Given the description of an element on the screen output the (x, y) to click on. 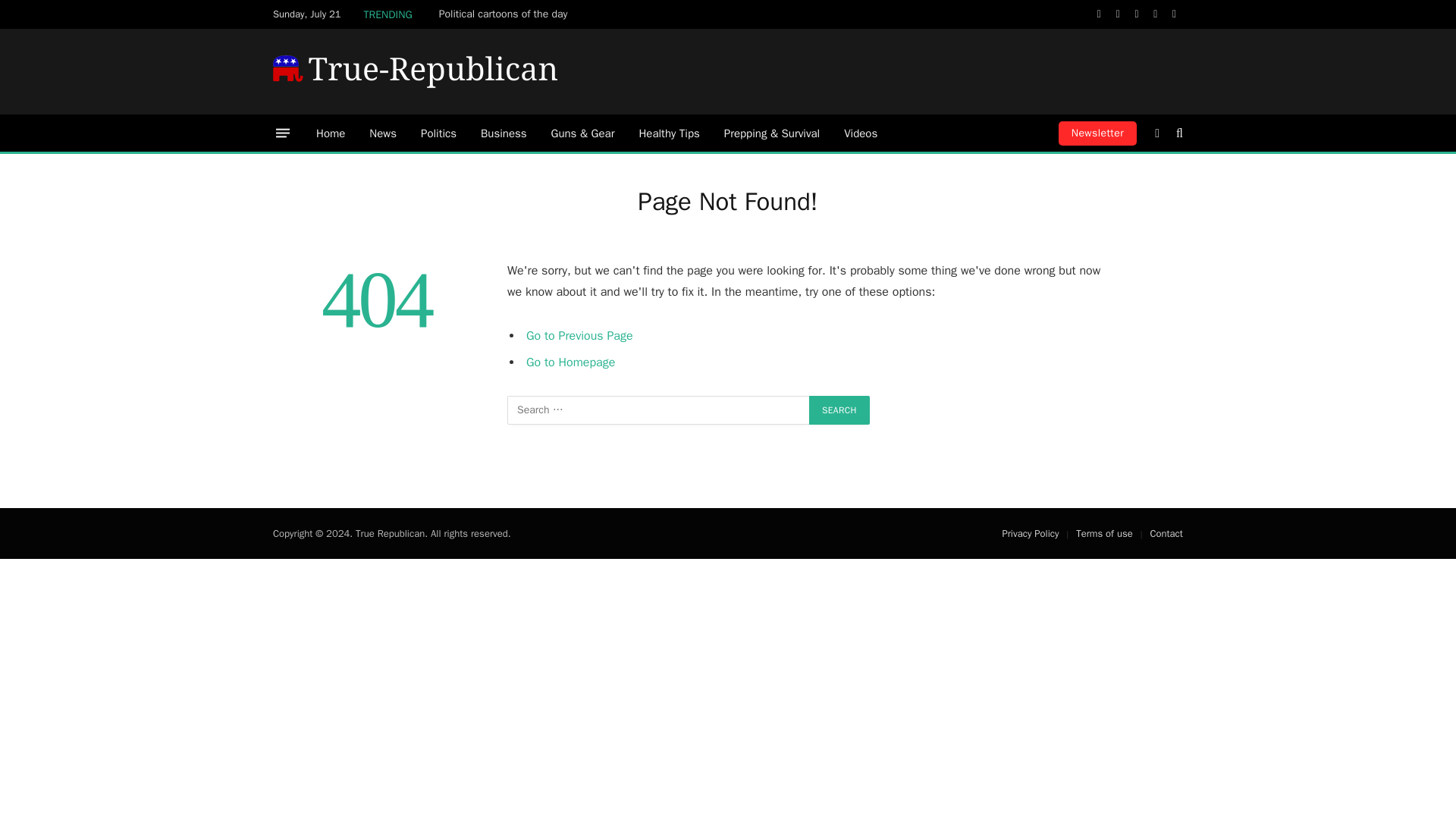
Switch to Dark Design - easier on eyes. (1157, 133)
Newsletter (1097, 133)
Politics (438, 132)
True Republican (415, 71)
Healthy Tips (668, 132)
Search (839, 410)
Videos (860, 132)
Search (839, 410)
Political cartoons of the day (507, 14)
Business (503, 132)
Home (330, 132)
News (382, 132)
